Given the description of an element on the screen output the (x, y) to click on. 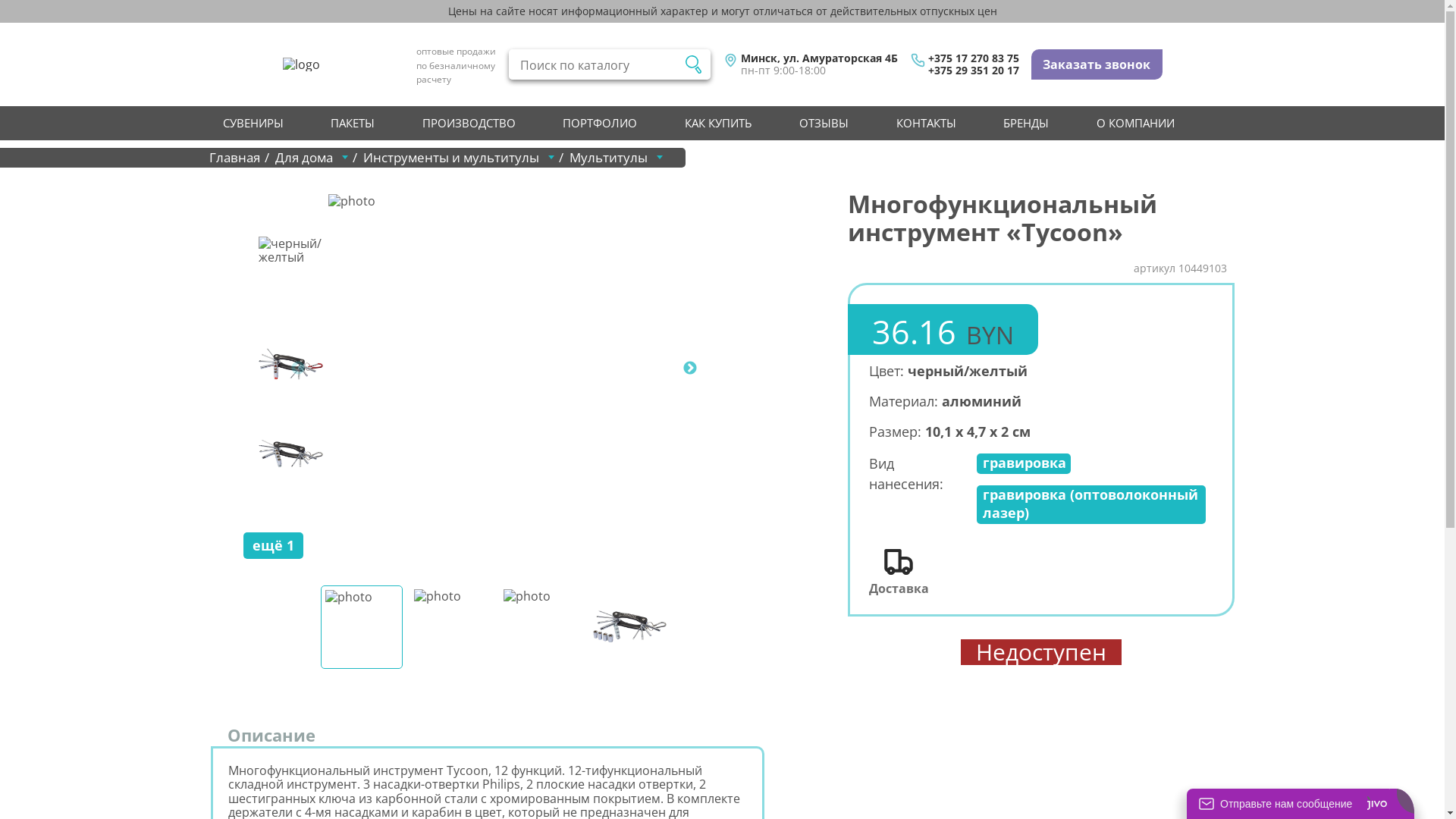
Previous Element type: text (296, 368)
+375 29 351 20 17 Element type: text (973, 70)
Next Element type: text (689, 368)
+375 17 270 83 75 Element type: text (973, 58)
